Given the description of an element on the screen output the (x, y) to click on. 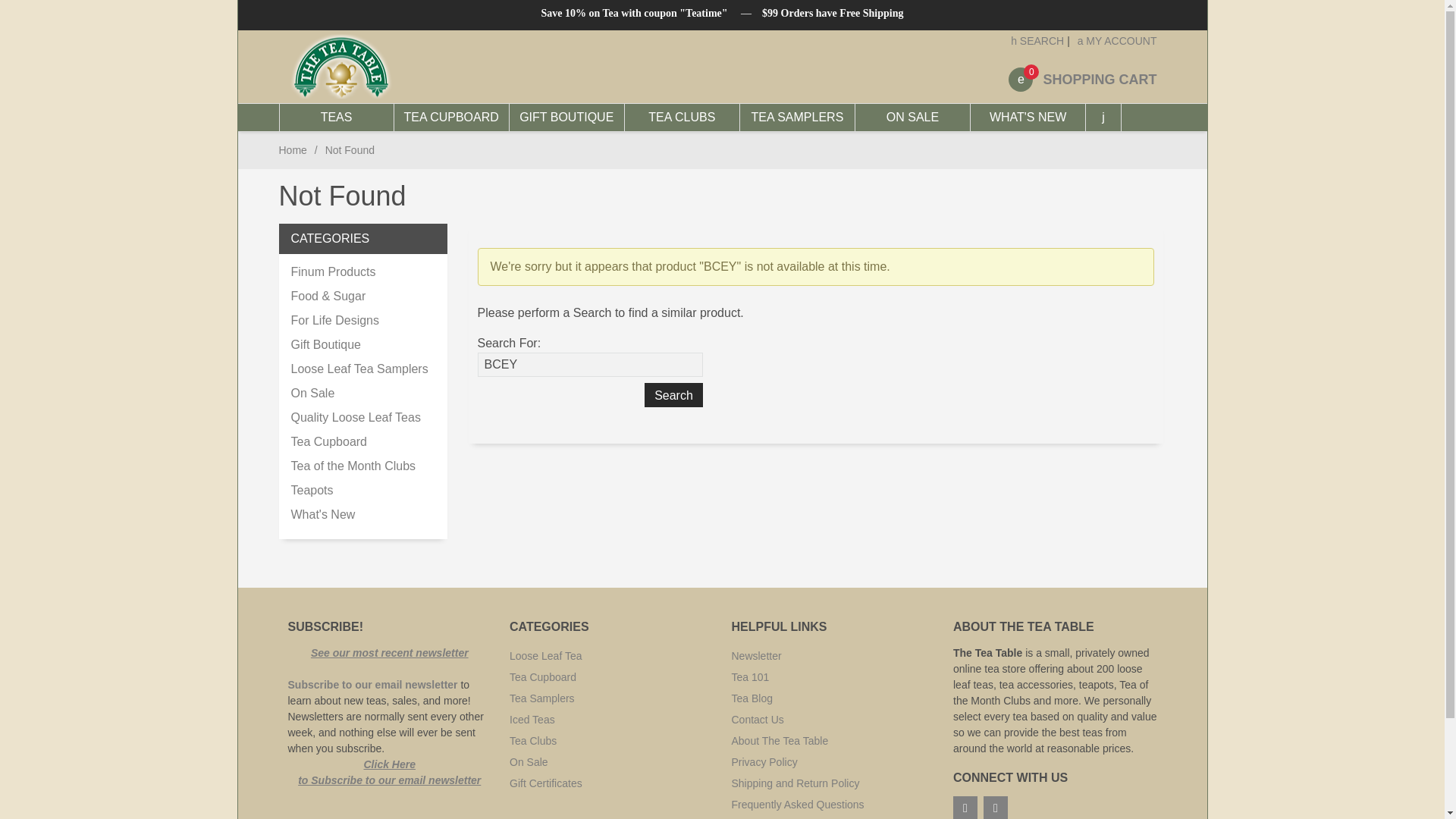
For Life Designs (363, 320)
The Tea Table (427, 67)
TEAS (336, 117)
Home (293, 150)
BCEY (590, 364)
Teapots (363, 490)
Welcome to The Tea Table, LLC (341, 67)
On Sale (363, 393)
BCEY (590, 364)
Quality Loose Leaf Teas (363, 417)
